Given the description of an element on the screen output the (x, y) to click on. 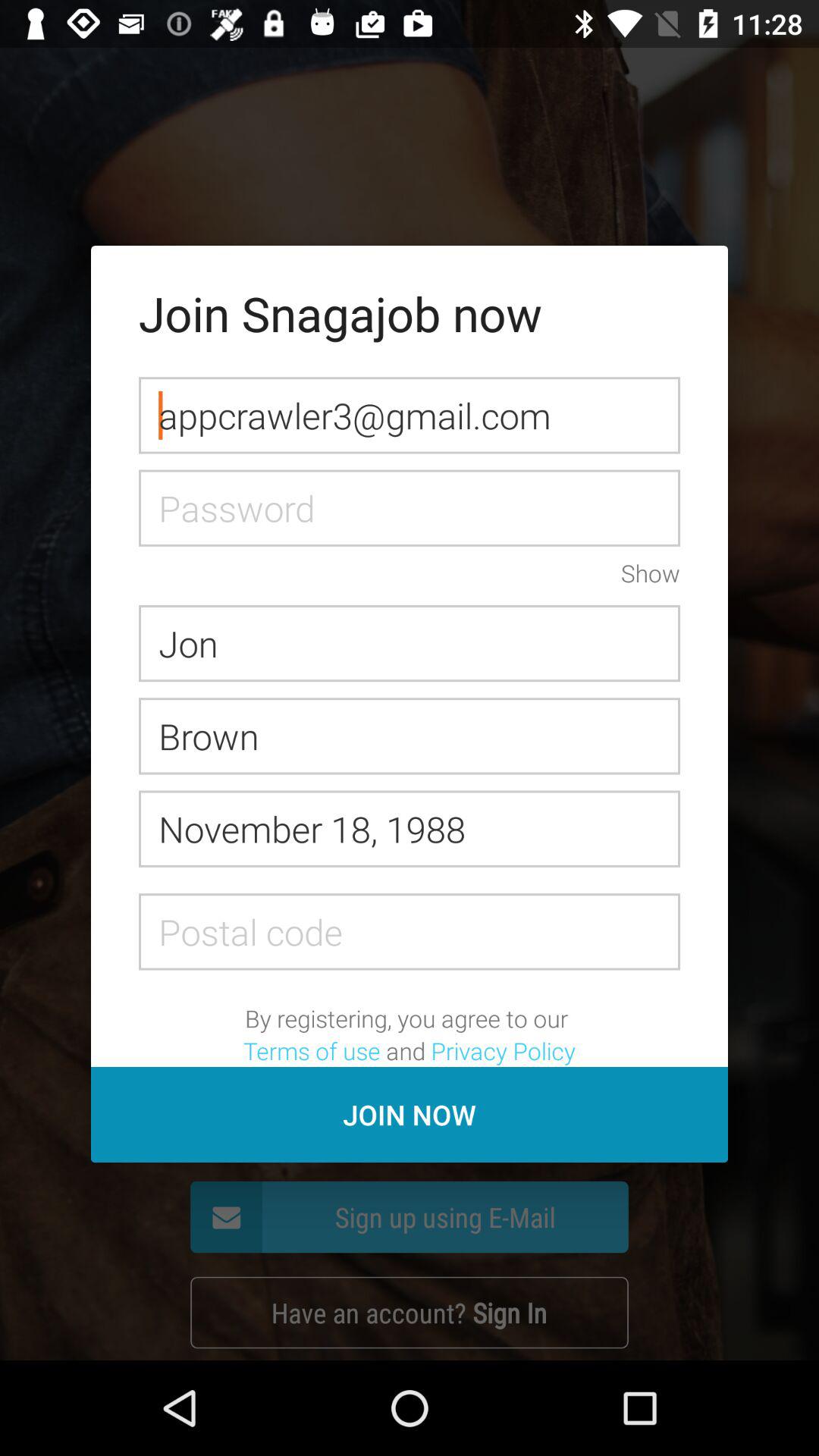
password box (409, 507)
